Given the description of an element on the screen output the (x, y) to click on. 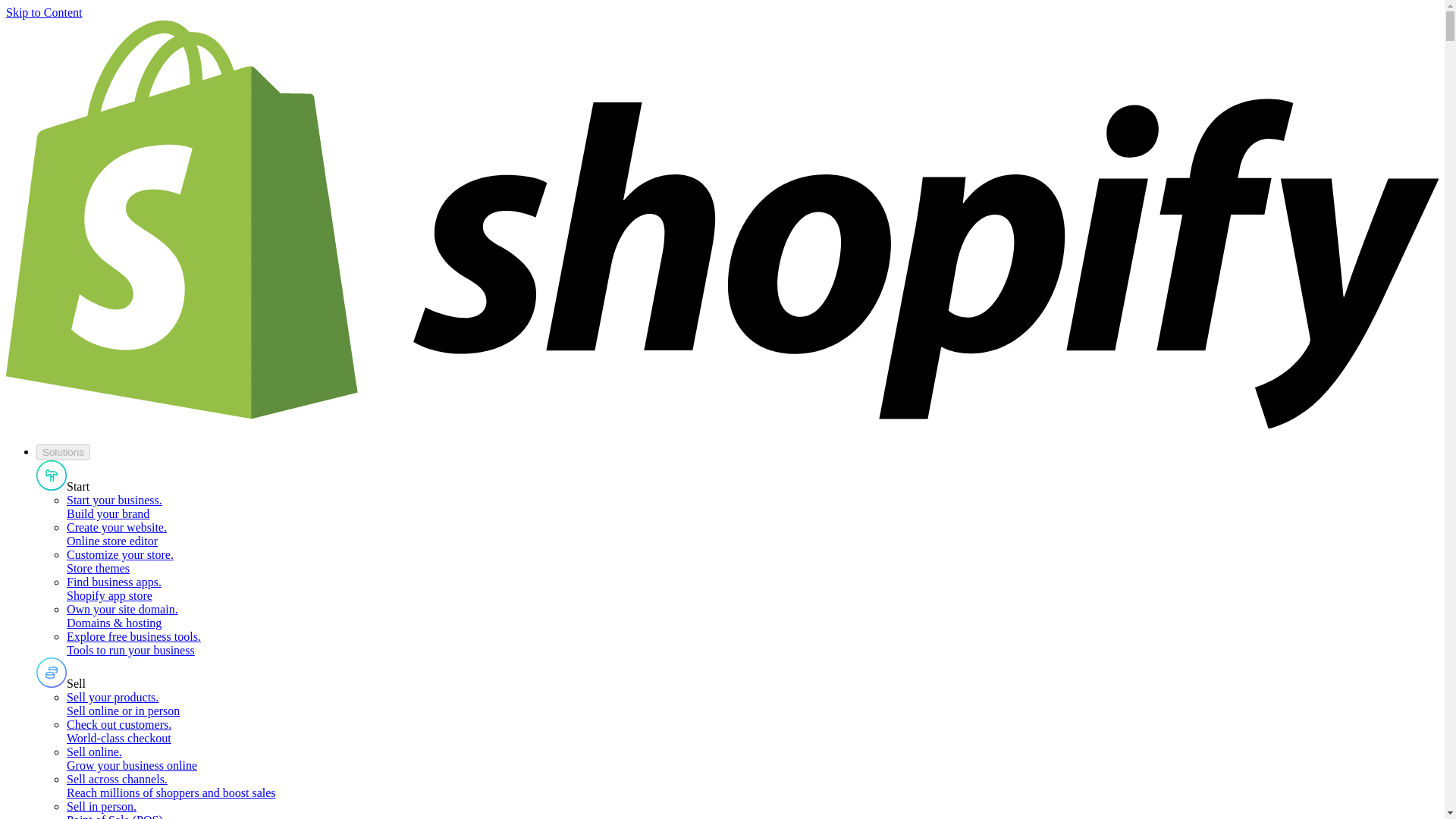
Solutions (63, 452)
Skip to Content (43, 11)
